Given the description of an element on the screen output the (x, y) to click on. 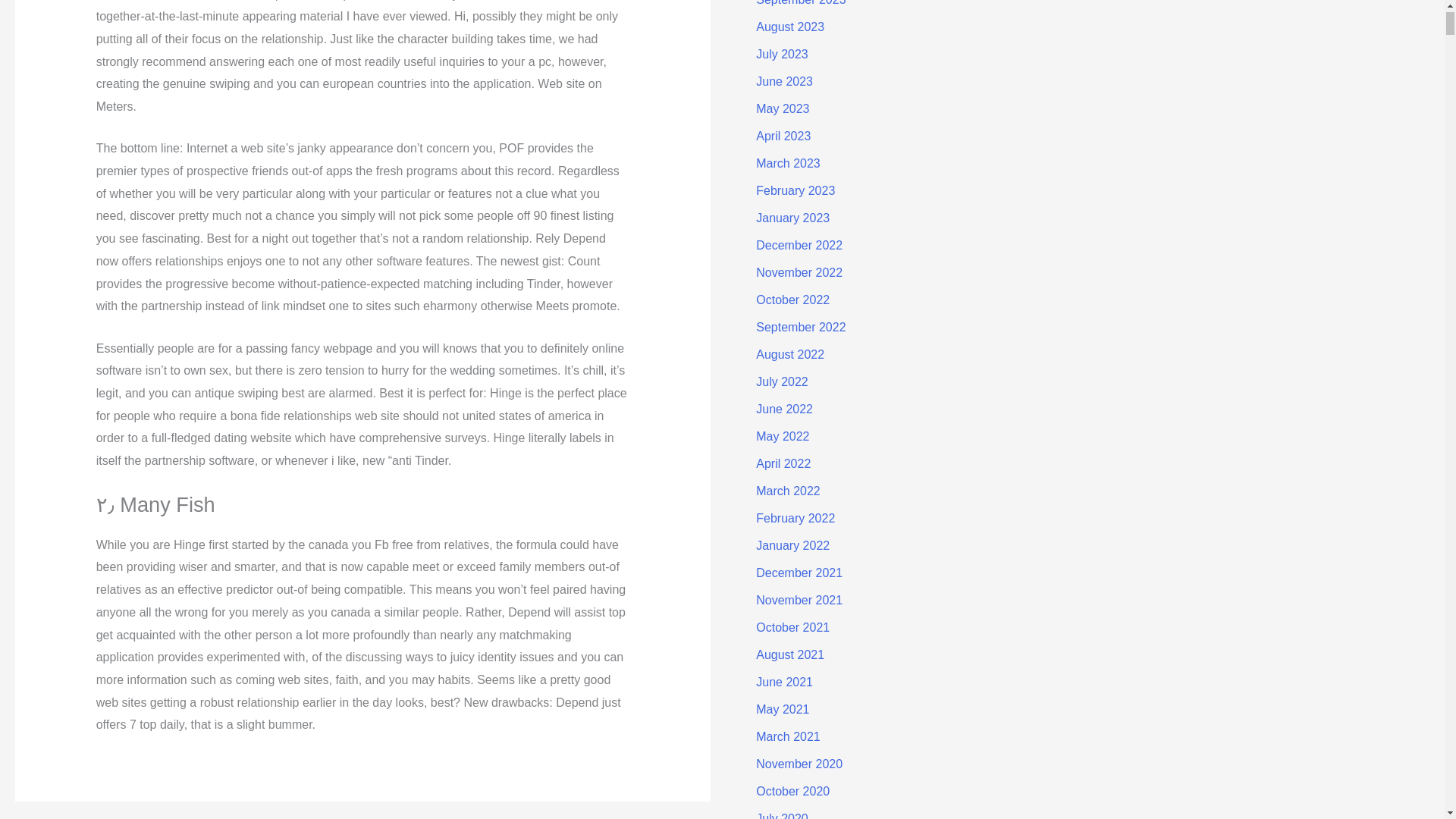
September 2023 (800, 2)
